Given the description of an element on the screen output the (x, y) to click on. 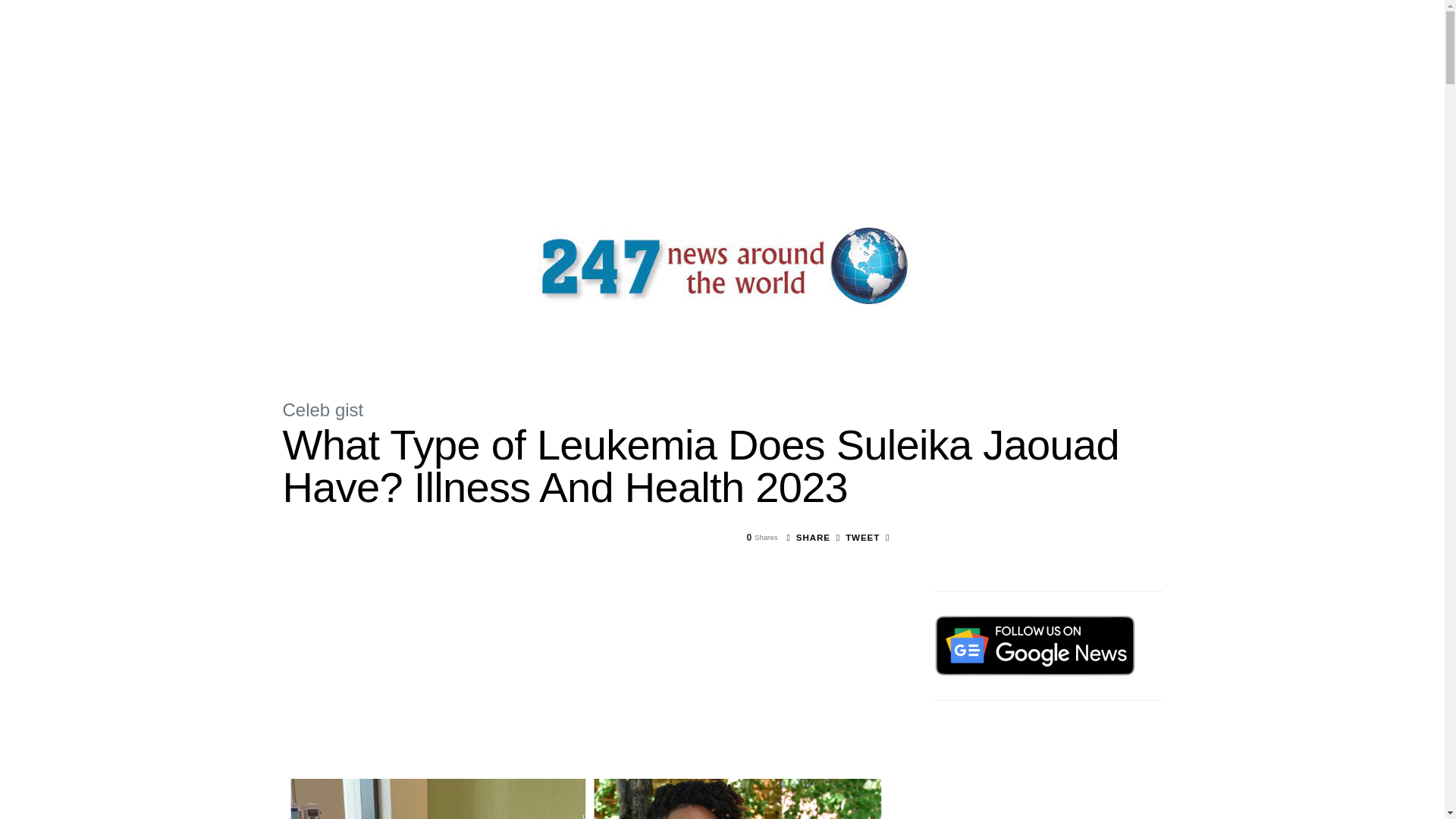
HEALTH (655, 343)
SPORTS (604, 343)
ENTERTAINMENT (533, 343)
Advertisement (585, 672)
Advertisement (1047, 771)
